Given the description of an element on the screen output the (x, y) to click on. 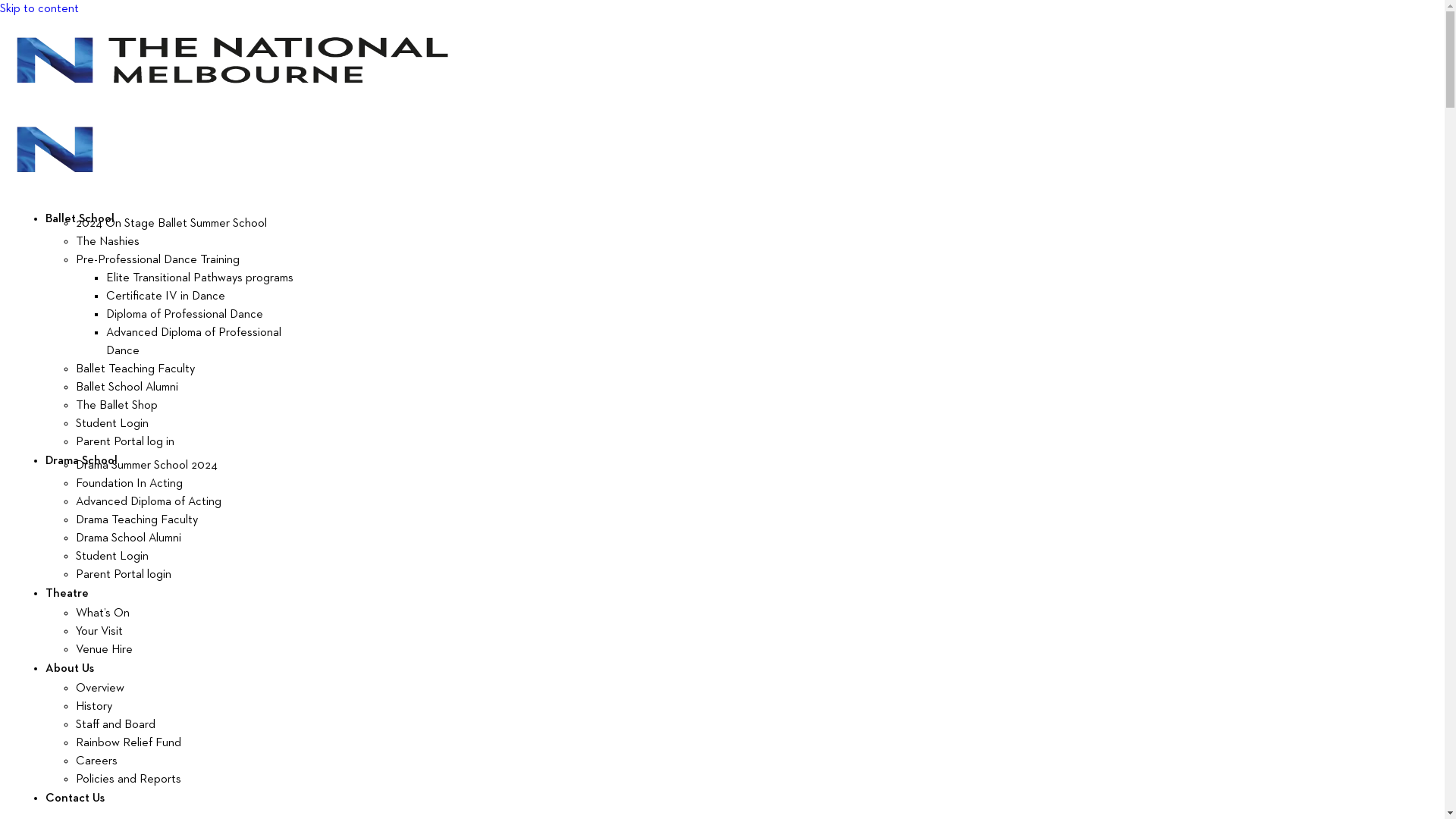
Contact Us Element type: text (74, 798)
Ballet School Alumni Element type: text (126, 387)
Student Login Element type: text (111, 556)
Skip to content Element type: text (39, 9)
Ballet School Element type: text (79, 219)
Parent Portal log in Element type: text (124, 442)
2024 On Stage Ballet Summer School Element type: text (170, 223)
Student Login Element type: text (111, 423)
Policies and Reports Element type: text (128, 779)
Venue Hire Element type: text (103, 649)
Advanced Diploma of Acting Element type: text (148, 501)
Elite Transitional Pathways programs Element type: text (199, 278)
Ballet Teaching Faculty Element type: text (134, 369)
The Ballet Shop Element type: text (116, 405)
Foundation In Acting Element type: text (128, 483)
Diploma of Professional Dance Element type: text (184, 314)
Rainbow Relief Fund Element type: text (128, 743)
About Us Element type: text (69, 668)
The Nashies Element type: text (107, 241)
History Element type: text (93, 706)
Drama School Element type: text (81, 461)
Advanced Diploma of Professional Dance Element type: text (193, 341)
Drama Teaching Faculty Element type: text (136, 520)
Pre-Professional Dance Training Element type: text (157, 260)
Careers Element type: text (96, 761)
Certificate IV in Dance Element type: text (165, 296)
Theatre Element type: text (66, 593)
Staff and Board Element type: text (115, 724)
Drama Summer School 2024 Element type: text (146, 465)
Overview Element type: text (99, 688)
Your Visit Element type: text (98, 631)
Drama School Alumni Element type: text (128, 538)
Parent Portal login Element type: text (123, 574)
